Given the description of an element on the screen output the (x, y) to click on. 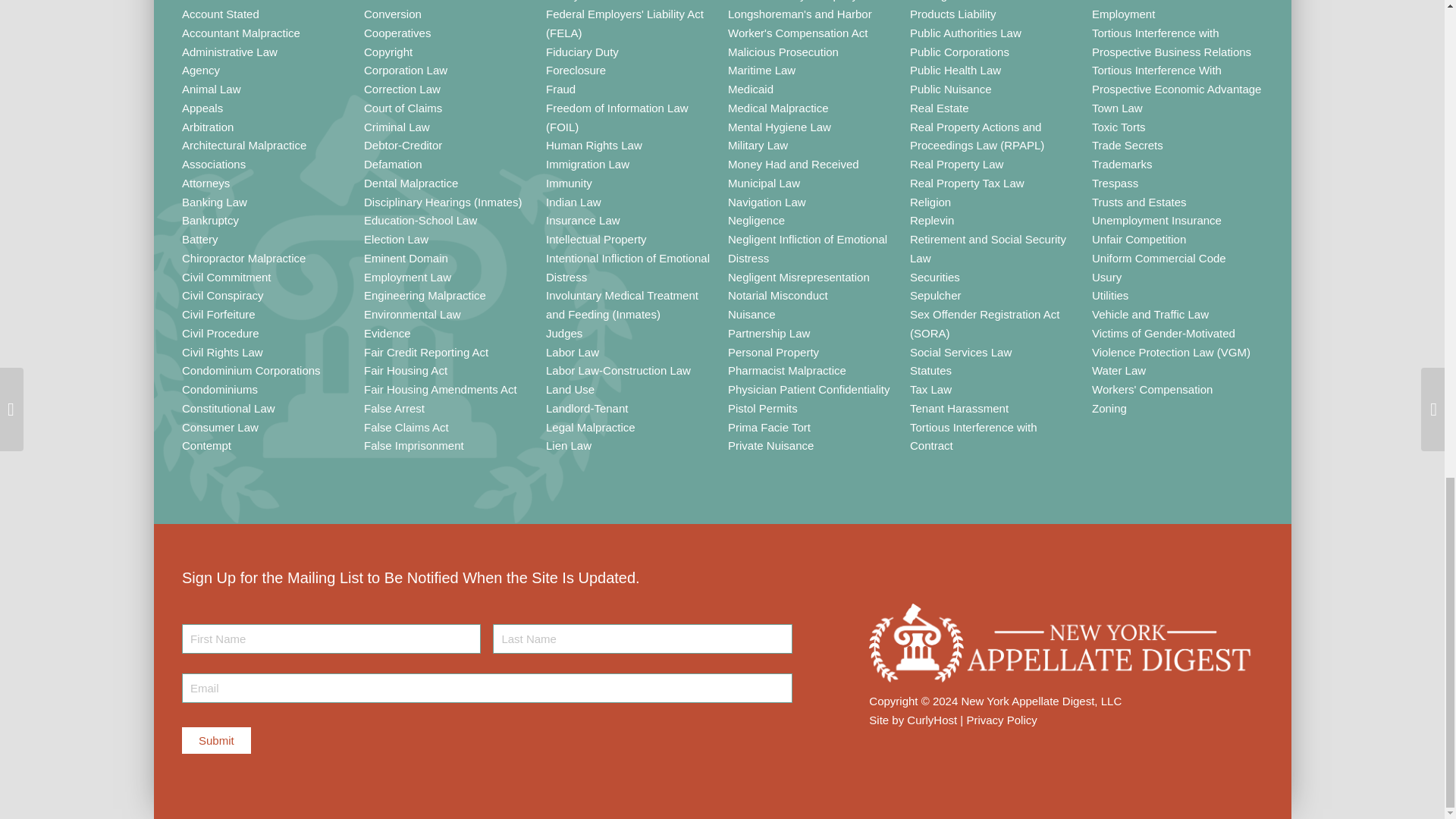
Abuse of Process (226, 0)
Battery (200, 238)
Civil Commitment (226, 277)
Chiropractor Malpractice (243, 257)
Account Stated (220, 13)
Appeals (202, 107)
Arbitration (207, 126)
Associations (214, 164)
Agency (200, 69)
Administrative Law (230, 51)
Bankruptcy (210, 219)
Attorneys (206, 182)
Architectural Malpractice (243, 144)
Accountant Malpractice (240, 32)
Animal Law (211, 88)
